Given the description of an element on the screen output the (x, y) to click on. 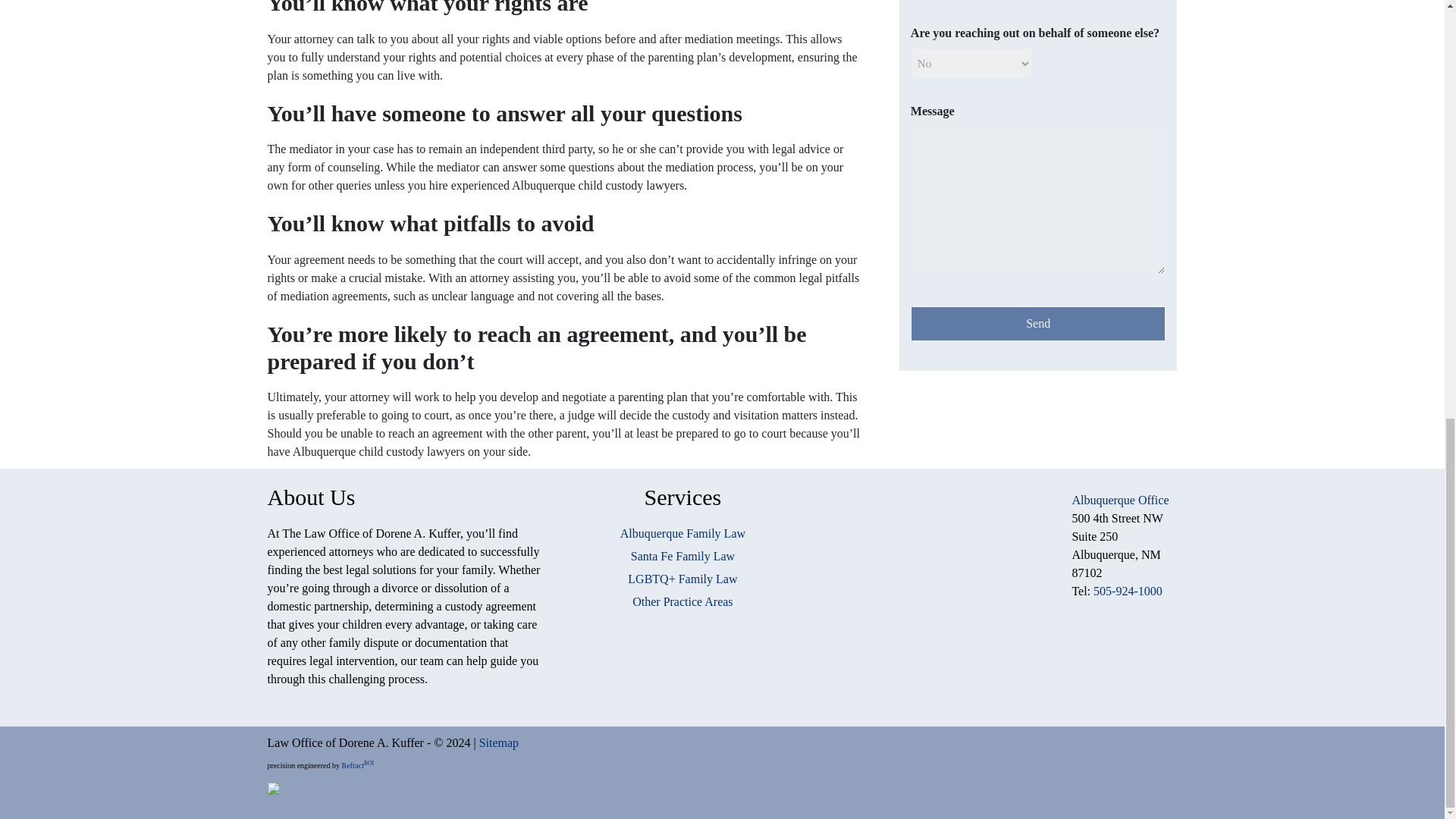
Map (935, 585)
Send (1038, 323)
sitemap (498, 742)
